Given the description of an element on the screen output the (x, y) to click on. 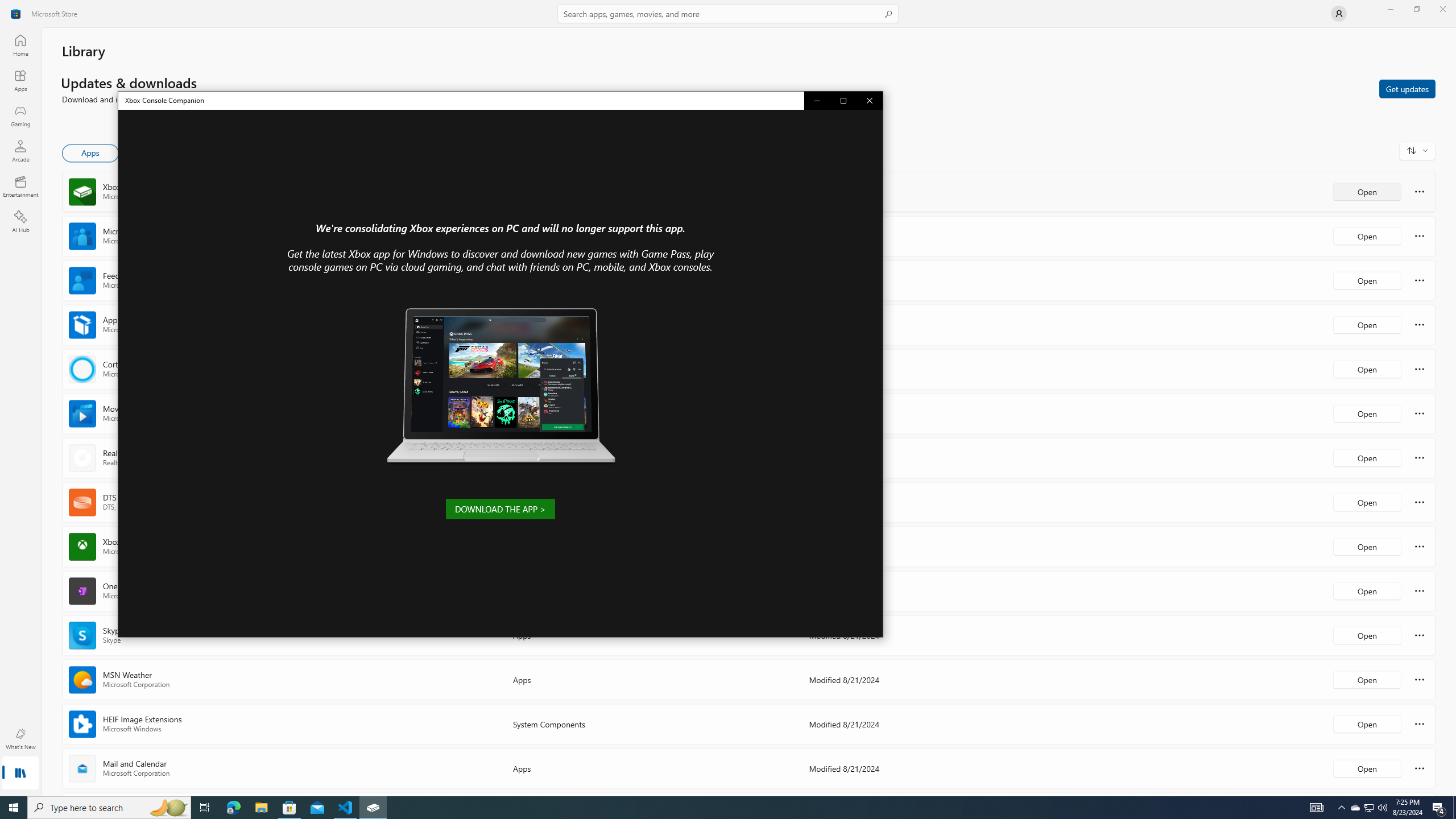
DOWNLOAD THE APP > (499, 508)
What's New (20, 738)
Action Center, 4 new notifications (1439, 807)
User Promoted Notification Area (1368, 807)
Close Microsoft Store (1442, 9)
Show desktop (1454, 807)
Task View (204, 807)
Microsoft Edge (233, 807)
Search highlights icon opens search home window (167, 807)
Minimize Xbox Console Companion (816, 100)
User profile (1338, 13)
